Given the description of an element on the screen output the (x, y) to click on. 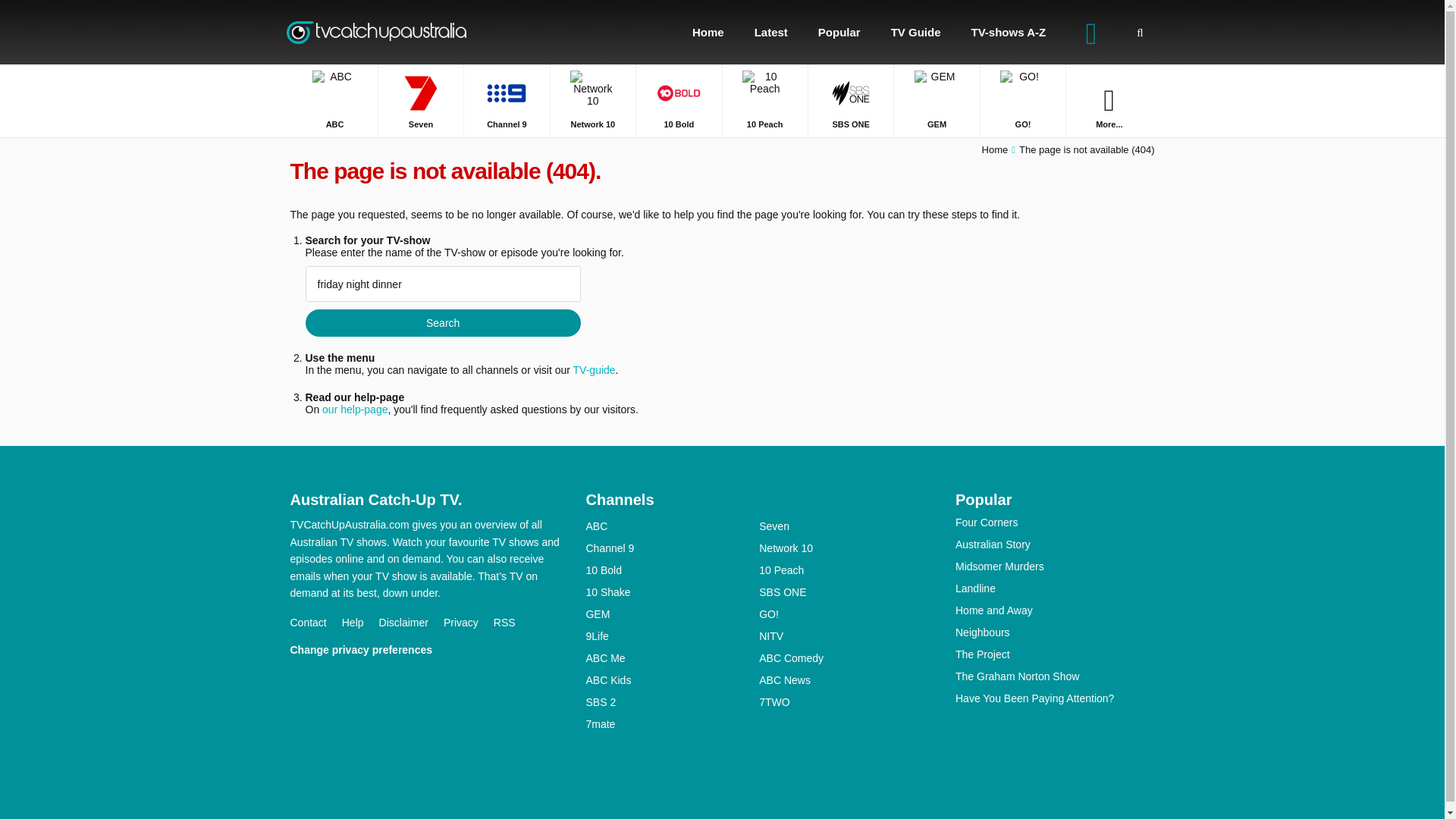
GEM (935, 100)
Search (441, 322)
friday night dinner (441, 284)
Seven (420, 100)
10 Bold (678, 100)
10 Bold (678, 100)
10 Peach (764, 100)
Channel 9 (506, 100)
Network 10 (592, 100)
RSS (512, 622)
Help (360, 622)
SBS ONE (850, 100)
our help-page (354, 409)
Network 10 (592, 100)
